Given the description of an element on the screen output the (x, y) to click on. 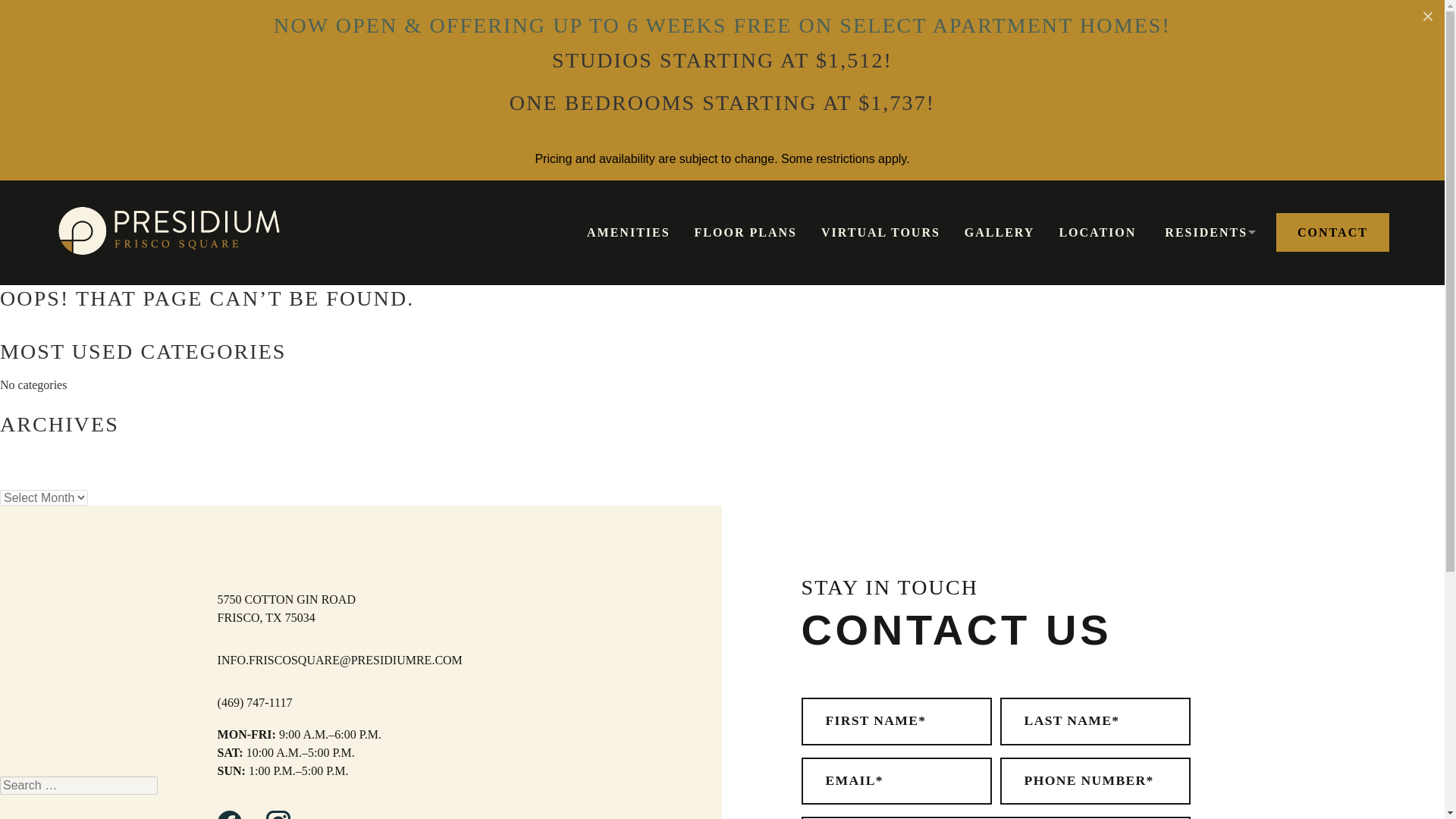
AMENITIES (627, 232)
Search (25, 9)
CONTACT (1332, 232)
VIRTUAL TOURS (880, 232)
LOCATION (1096, 232)
RESIDENTS (1206, 233)
GALLERY (999, 232)
FLOOR PLANS (745, 232)
